Given the description of an element on the screen output the (x, y) to click on. 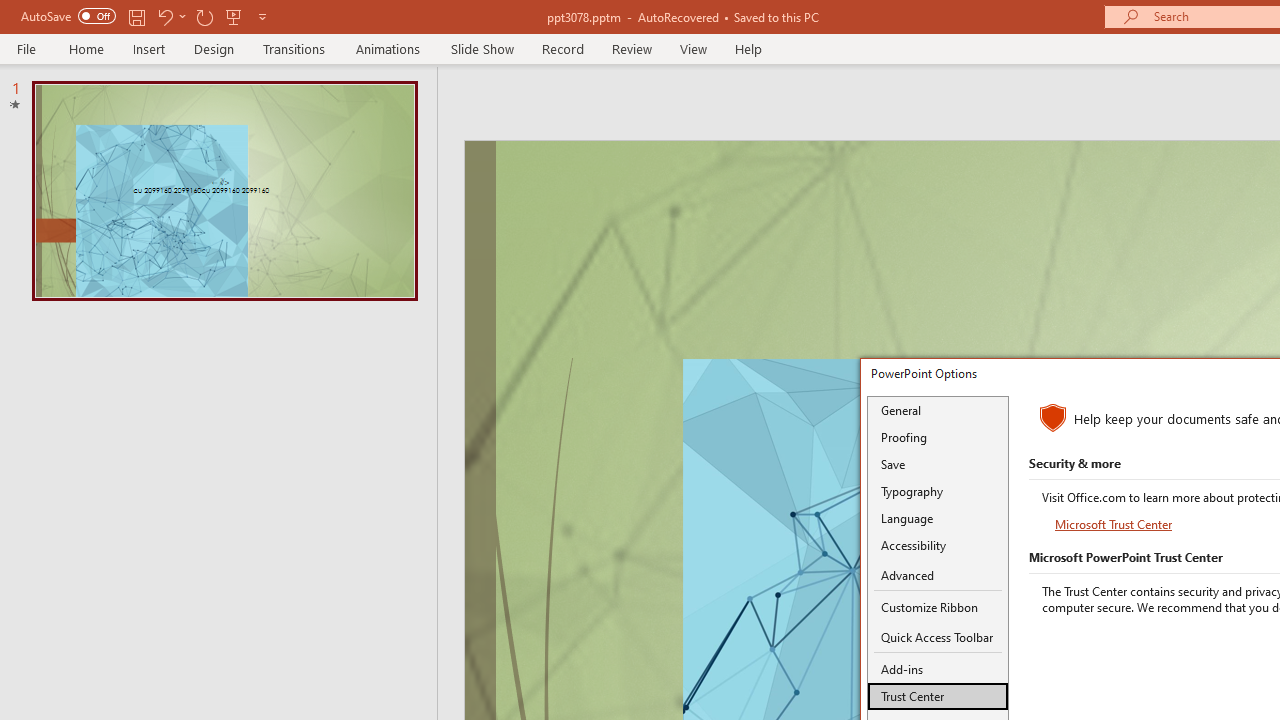
Advanced (937, 576)
Typography (937, 491)
